Given the description of an element on the screen output the (x, y) to click on. 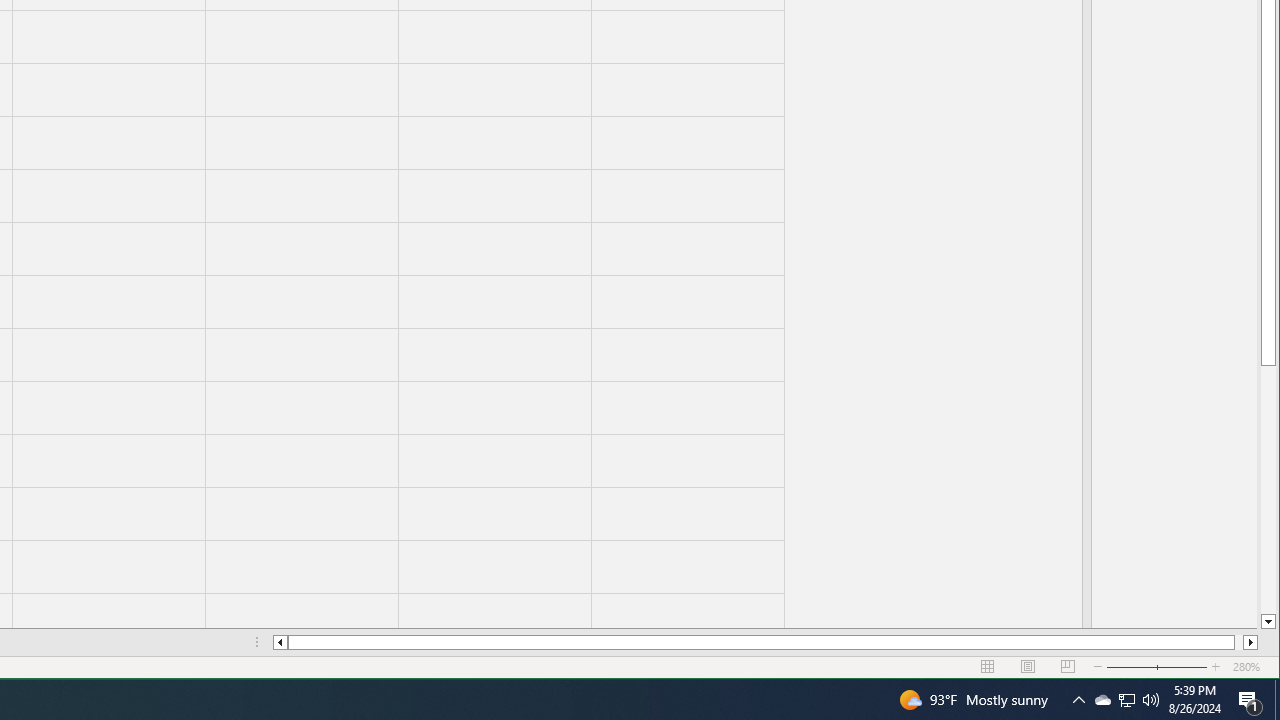
Action Center, 1 new notification (1250, 699)
Zoom (1157, 667)
Class: NetUIScrollBar (765, 642)
Line down (1102, 699)
Column right (1268, 622)
Zoom In (1250, 642)
Show desktop (1215, 667)
Q2790: 100% (1277, 699)
User Promoted Notification Area (1151, 699)
Page down (1126, 699)
Page Break Preview (1268, 489)
Column left (1068, 667)
